Given the description of an element on the screen output the (x, y) to click on. 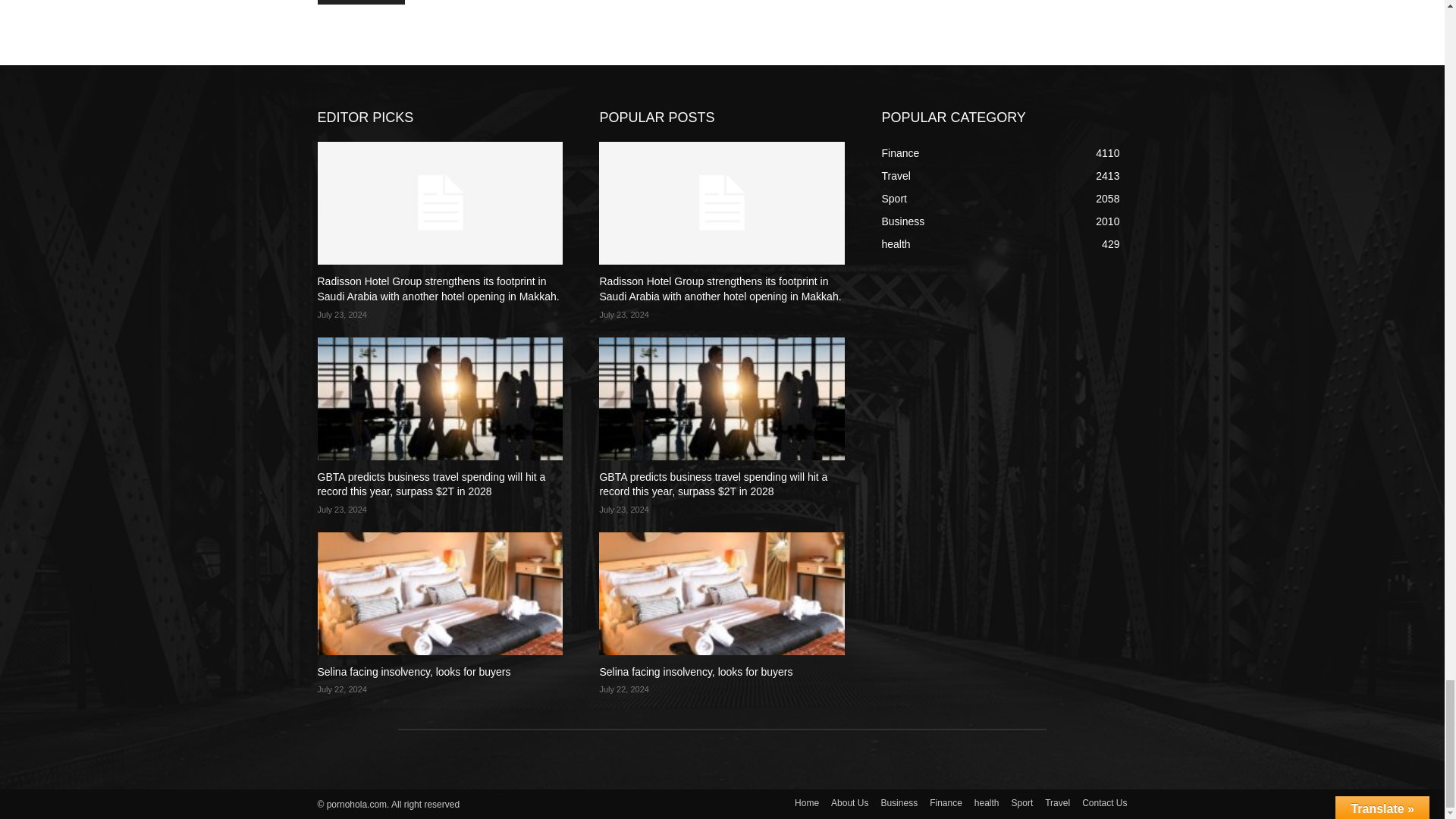
Post Comment (360, 2)
